Given the description of an element on the screen output the (x, y) to click on. 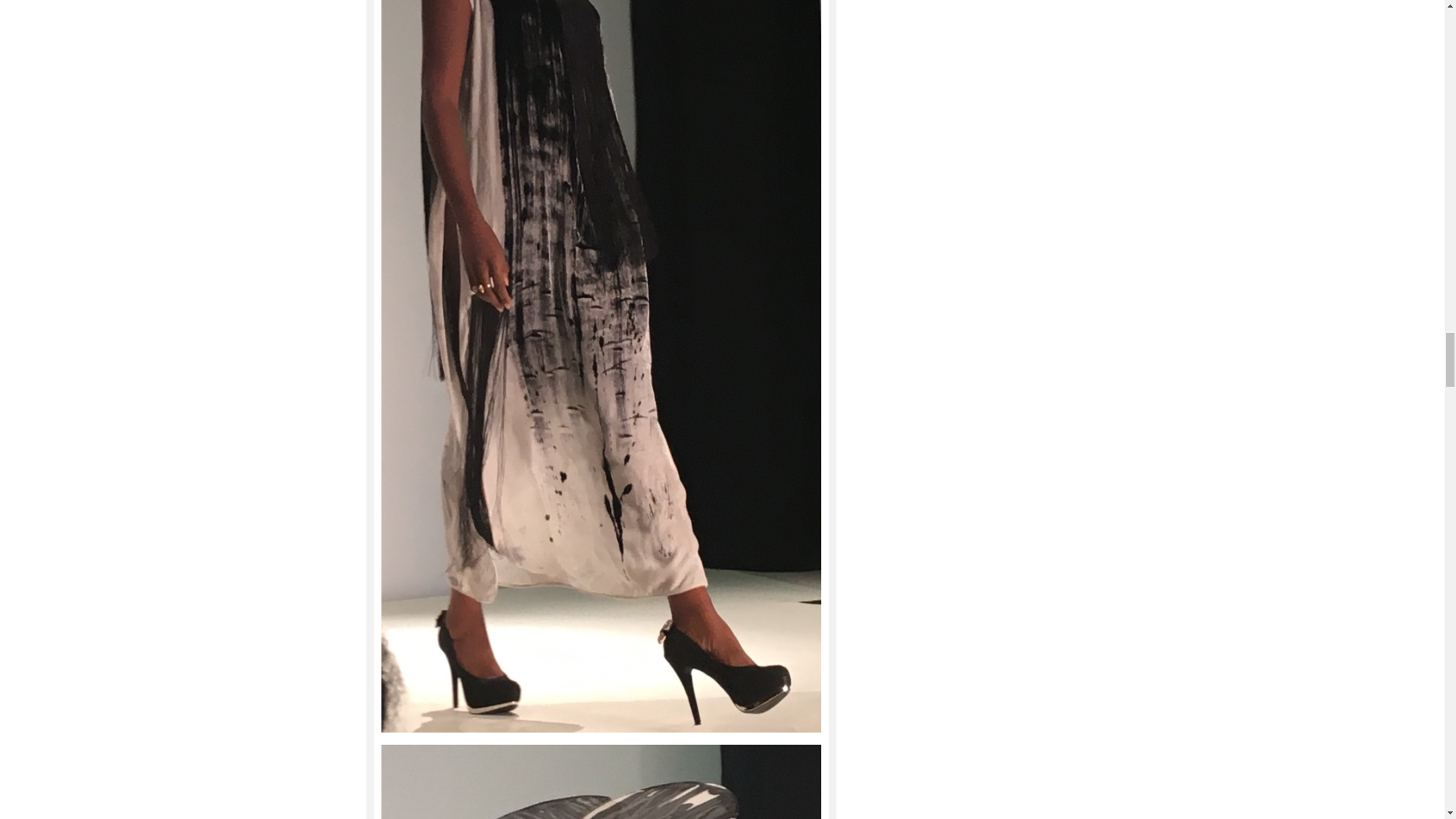
5-patricia-michaels-style-fashion-week-gold-front (600, 781)
